Given the description of an element on the screen output the (x, y) to click on. 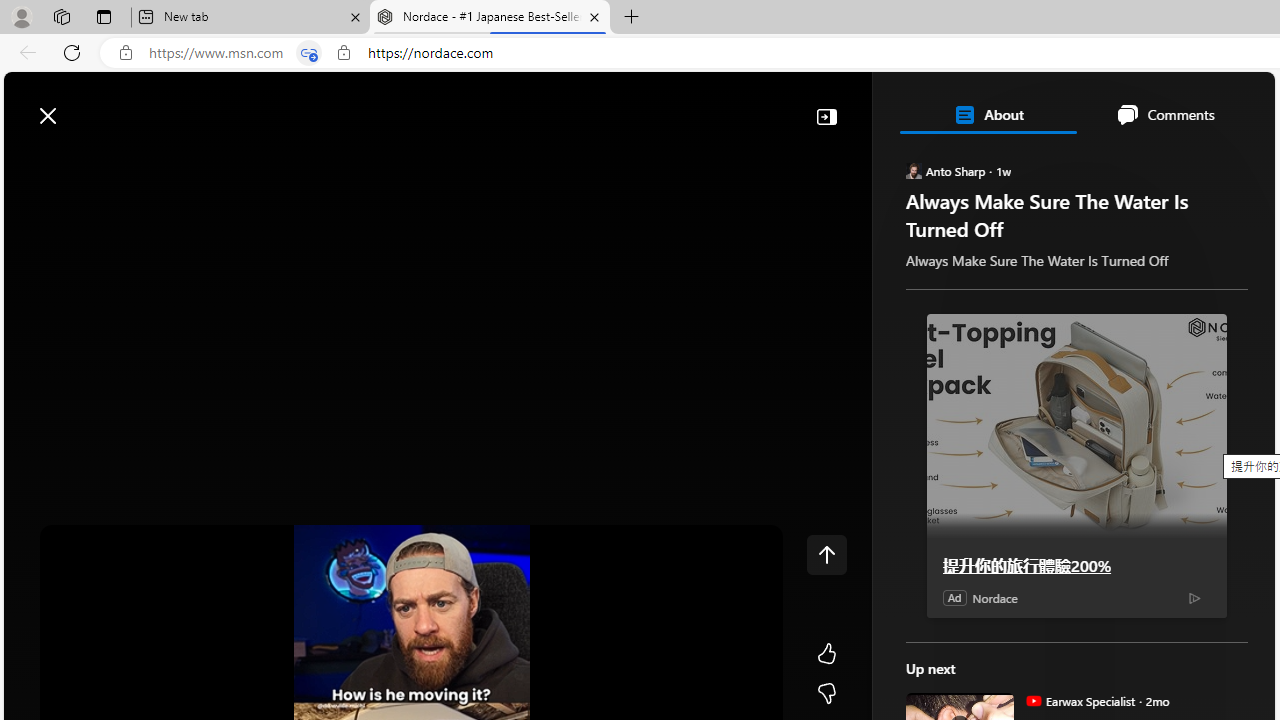
Earwax Specialist Earwax Specialist (1080, 700)
About (987, 114)
Tabs in split screen (308, 53)
Comments (1165, 114)
Anto Sharp (912, 170)
Open settings (1230, 105)
